Given the description of an element on the screen output the (x, y) to click on. 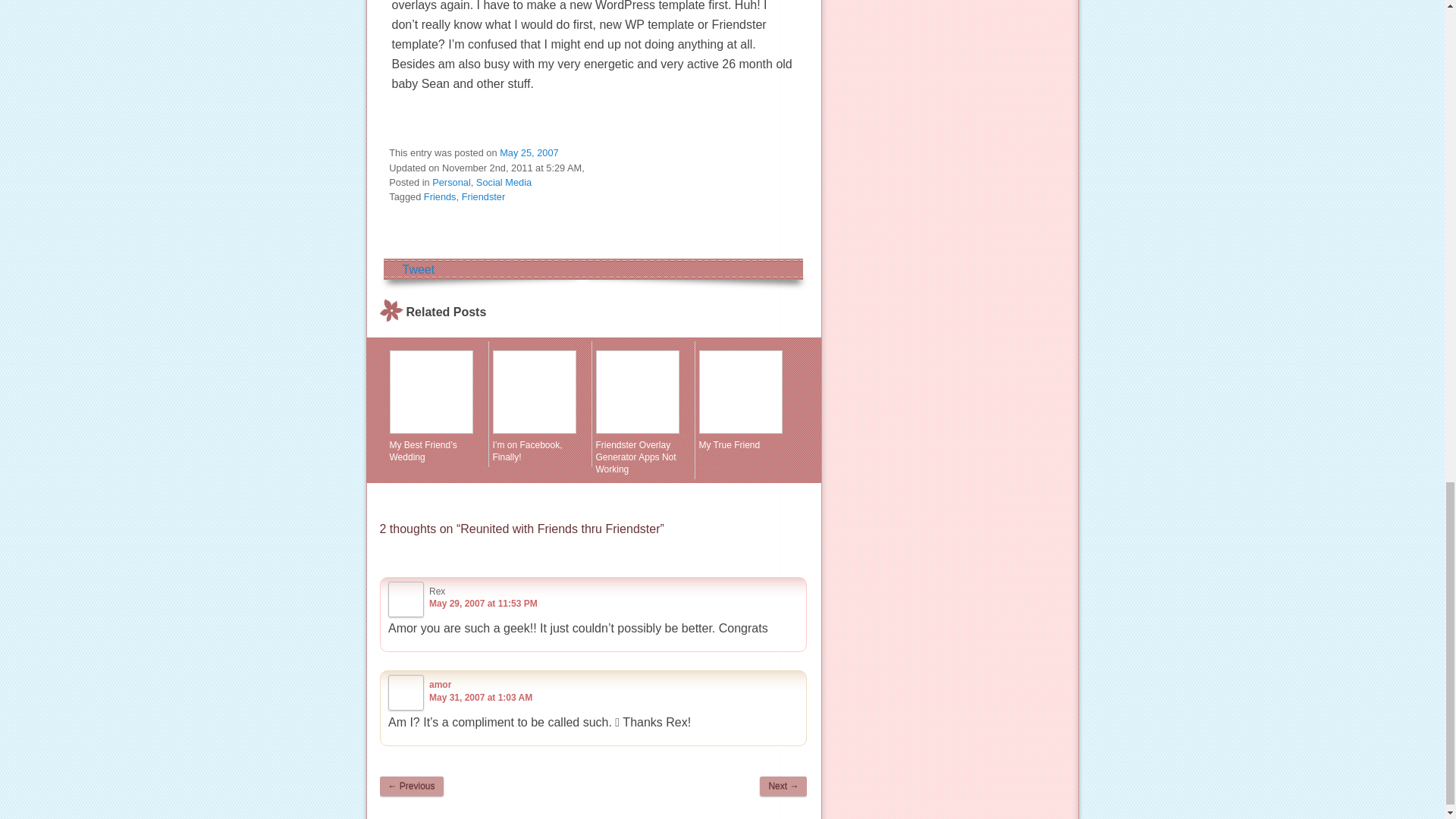
Tweet (417, 269)
Friendster (483, 196)
Personal (451, 182)
May 31, 2007 at 1:03 AM (480, 697)
May 25, 2007 (529, 152)
11:21 PM (529, 152)
Friends (440, 196)
Permanent Link to My True Friend (745, 400)
amor (440, 684)
Social Media (503, 182)
